Given the description of an element on the screen output the (x, y) to click on. 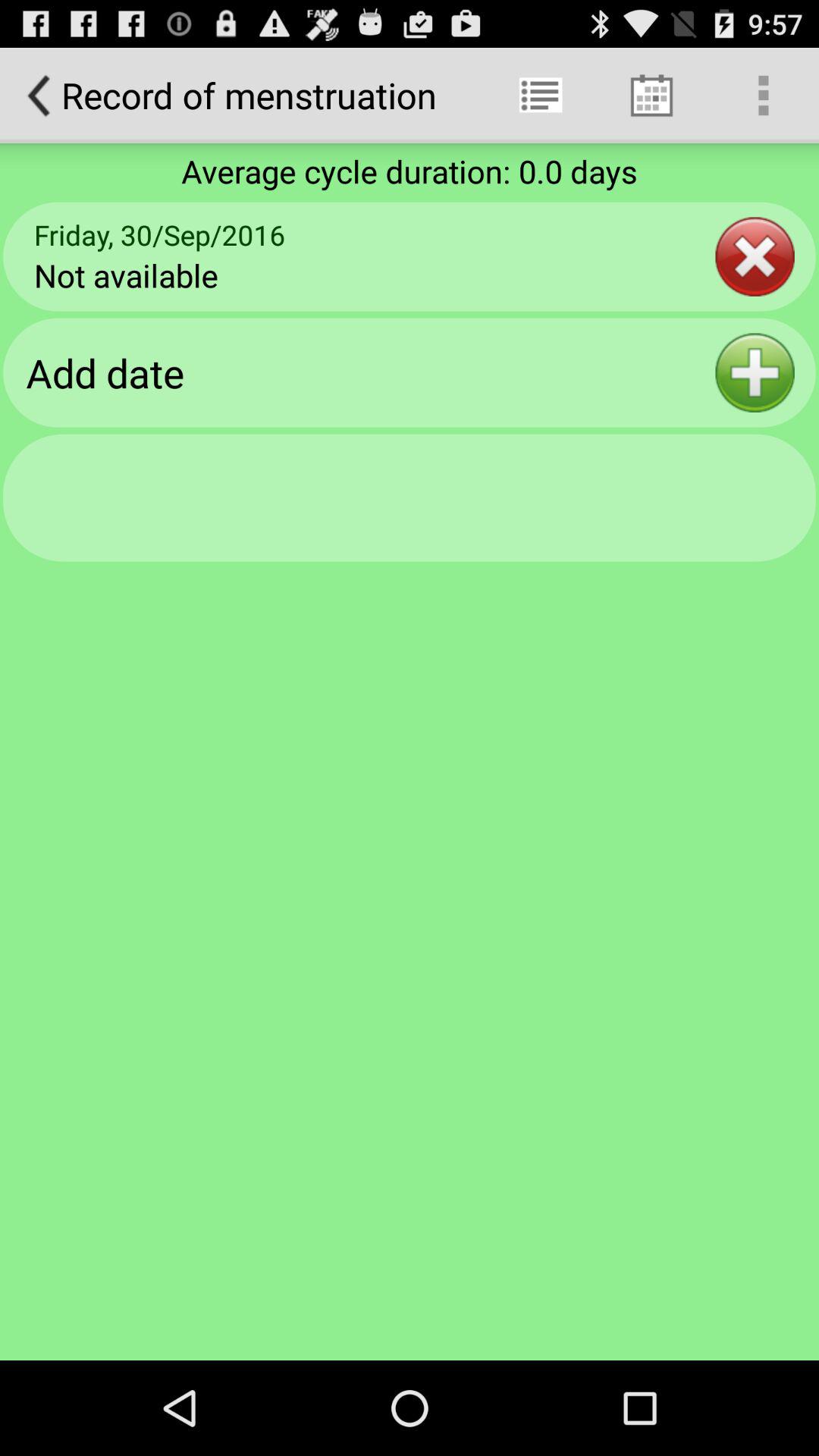
press the item next to friday 30 sep icon (754, 256)
